Given the description of an element on the screen output the (x, y) to click on. 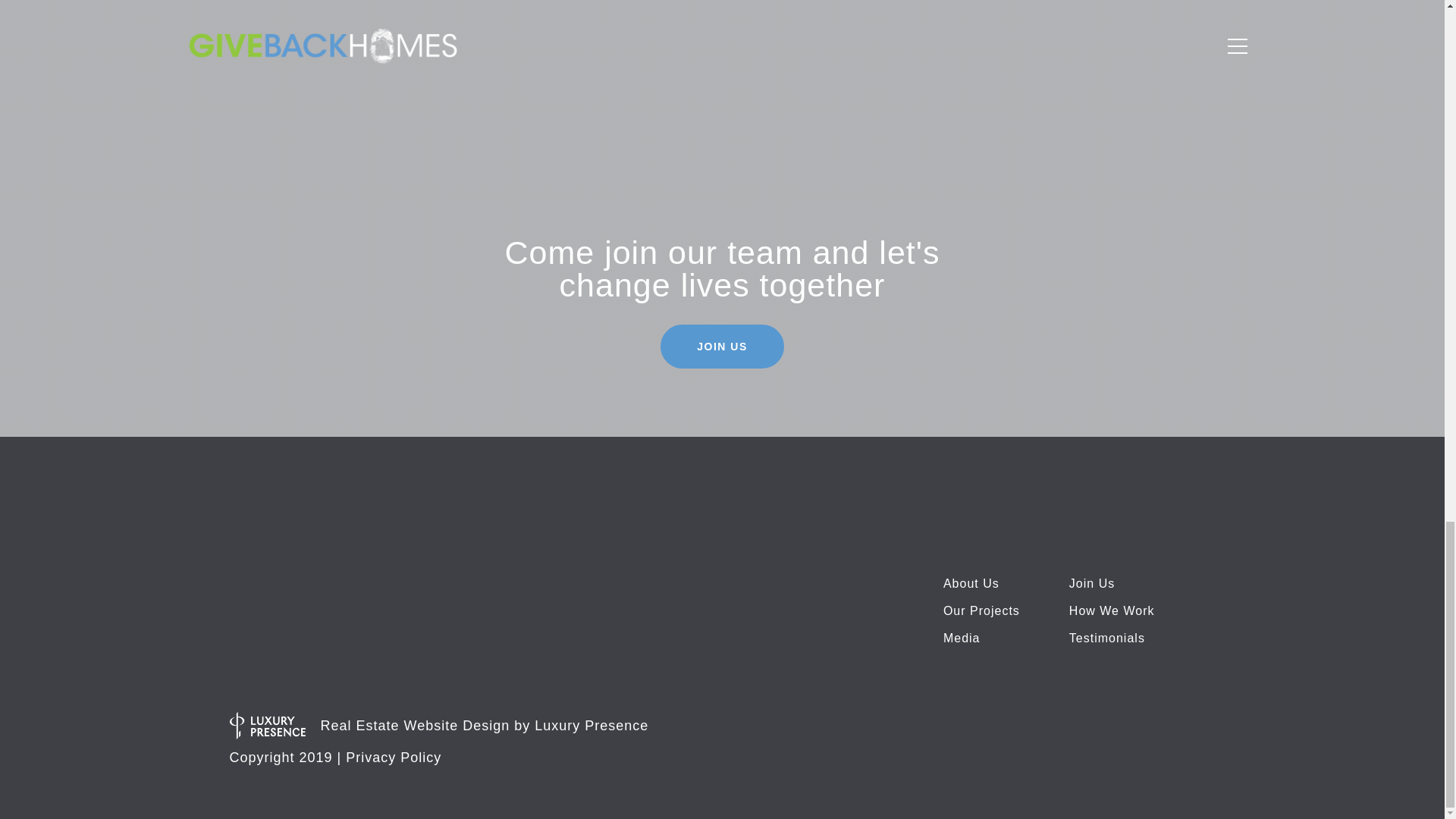
JOIN US (722, 346)
